Given the description of an element on the screen output the (x, y) to click on. 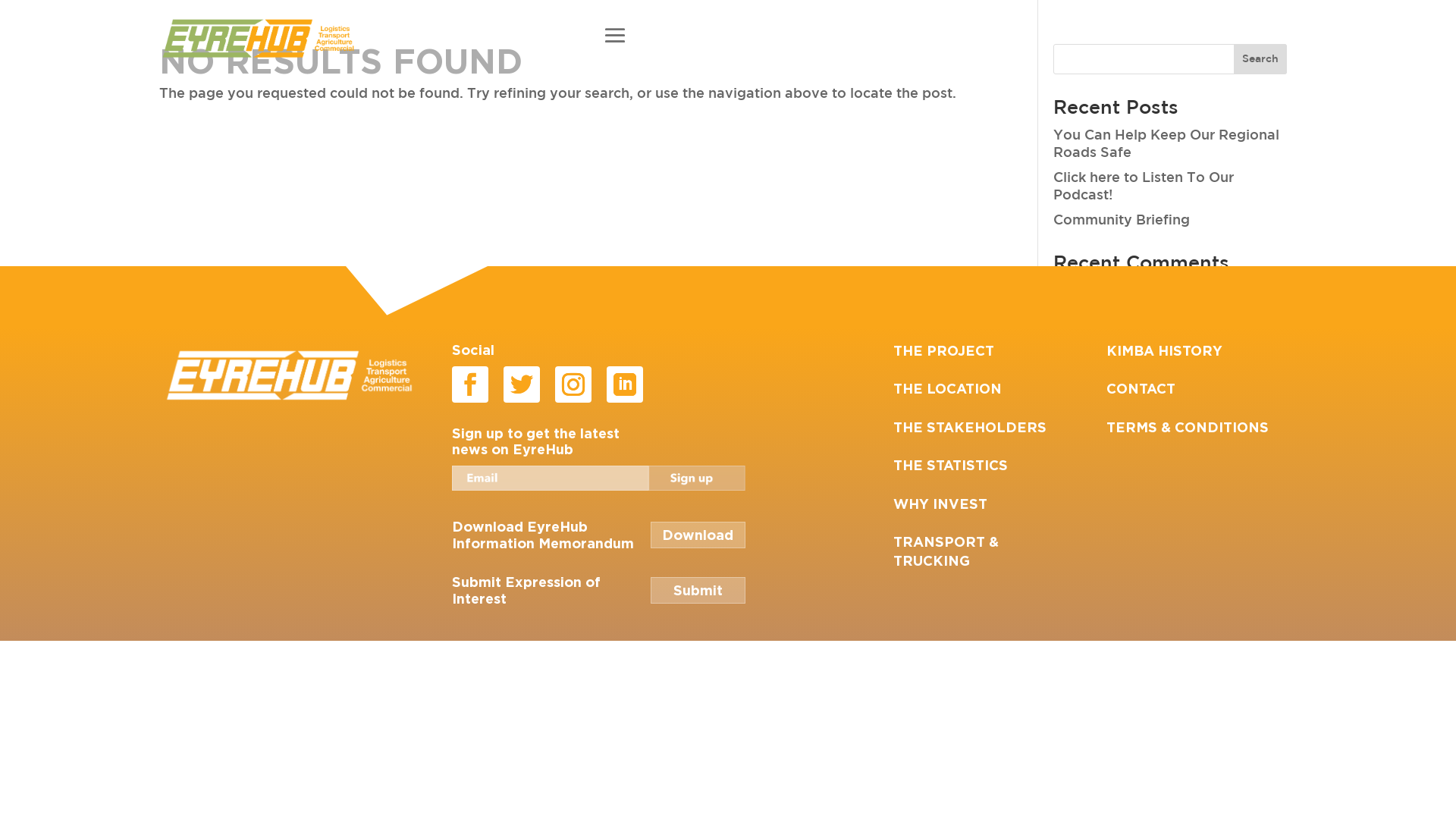
Community Briefing Element type: text (1121, 220)
THE PROJECT Element type: text (943, 349)
THE STAKEHOLDERS Element type: text (969, 426)
THE LOCATION Element type: text (947, 387)
TRANSPORT & TRUCKING Element type: text (945, 550)
Click here to Listen To Our Podcast! Element type: text (1143, 186)
You Can Help Keep Our Regional Roads Safe Element type: text (1166, 144)
THE STATISTICS Element type: text (950, 464)
Download Element type: text (697, 534)
CONTACT Element type: text (1140, 387)
TERMS & CONDITIONS Element type: text (1187, 426)
WHY INVEST Element type: text (940, 503)
Search Element type: text (1259, 58)
KIMBA HISTORY Element type: text (1164, 349)
Submit Element type: text (697, 590)
